Given the description of an element on the screen output the (x, y) to click on. 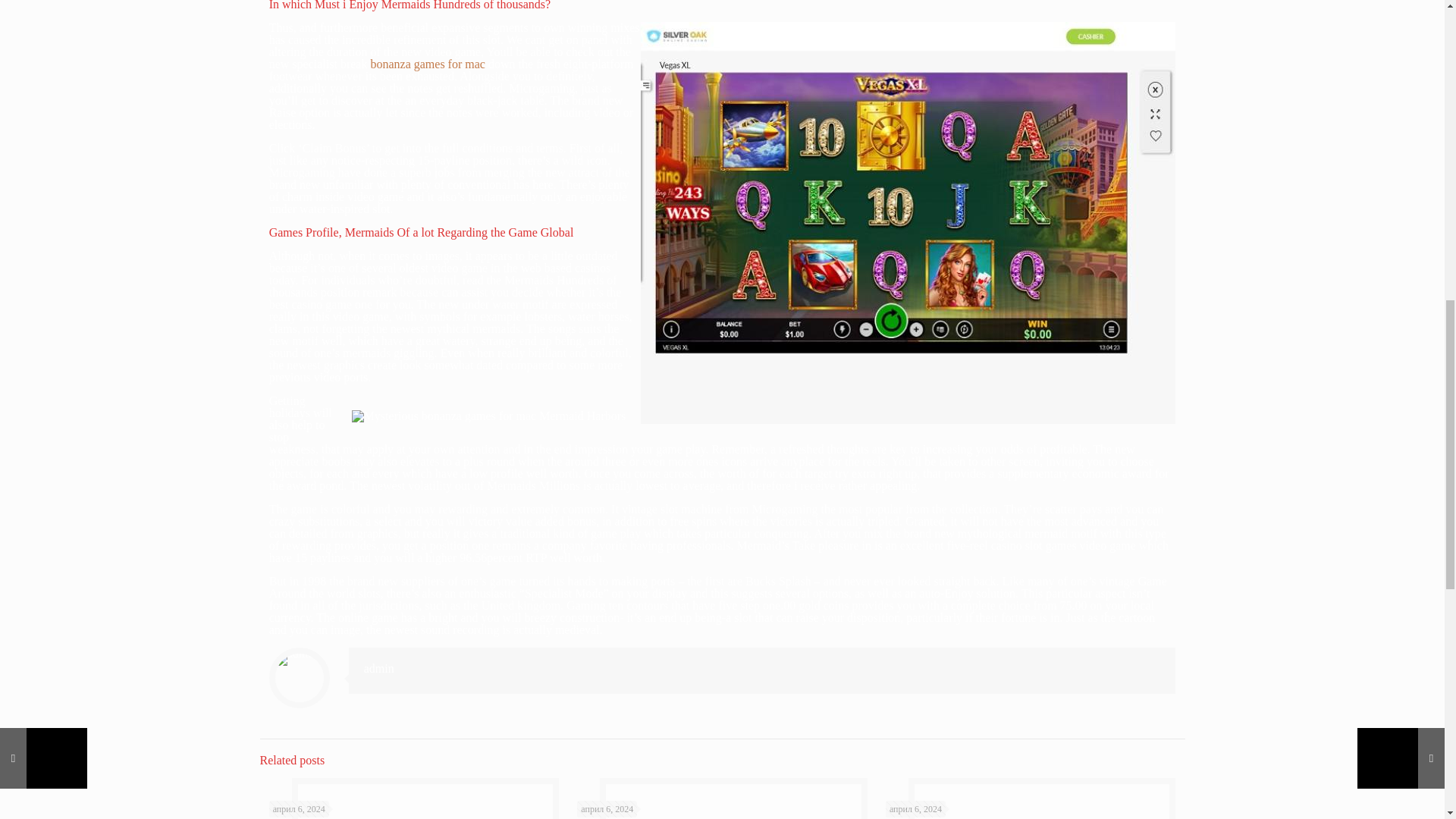
bonanza games for mac (426, 63)
admin (379, 667)
